Given the description of an element on the screen output the (x, y) to click on. 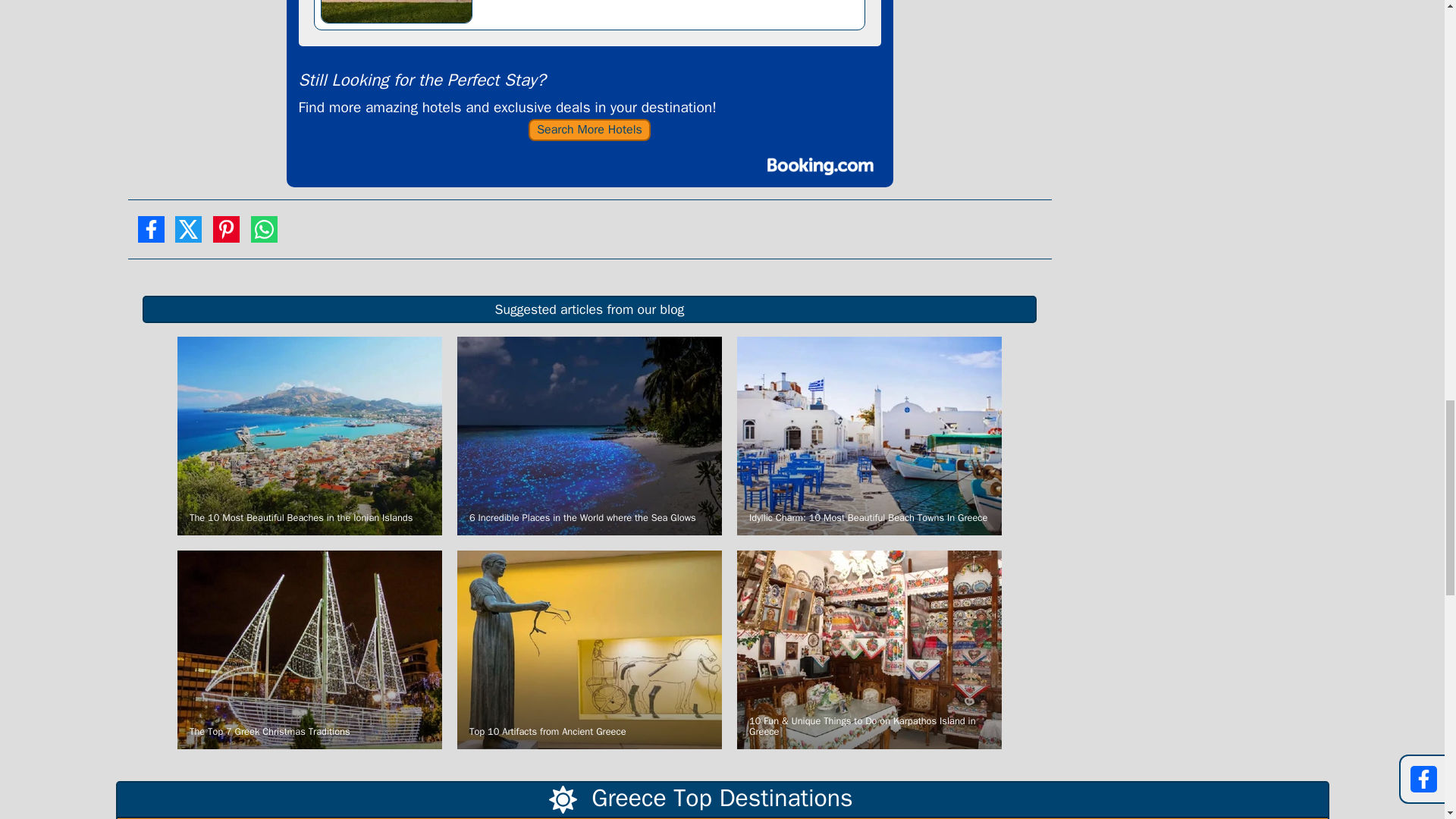
Idyllic Charm: 10 Most Beautiful Beach Towns In Greece (869, 435)
6 Incredible Places in the World where the Sea Glows (589, 435)
The Top 7 Greek Christmas Traditions (309, 649)
Pinterest (226, 234)
Top 10 Artifacts from Ancient Greece (589, 649)
The Top 7 Greek Christmas Traditions (309, 649)
Twitter (188, 234)
Top 10 Artifacts from Ancient Greece (589, 649)
Facebook (150, 234)
The 10 Most Beautiful Beaches in the Ionian Islands (309, 435)
The 10 Most Beautiful Beaches in the Ionian Islands (309, 435)
Idyllic Charm: 10 Most Beautiful Beach Towns In Greece (869, 435)
WhatsApp (264, 234)
6 Incredible Places in the World where the Sea Glows (589, 435)
